Given the description of an element on the screen output the (x, y) to click on. 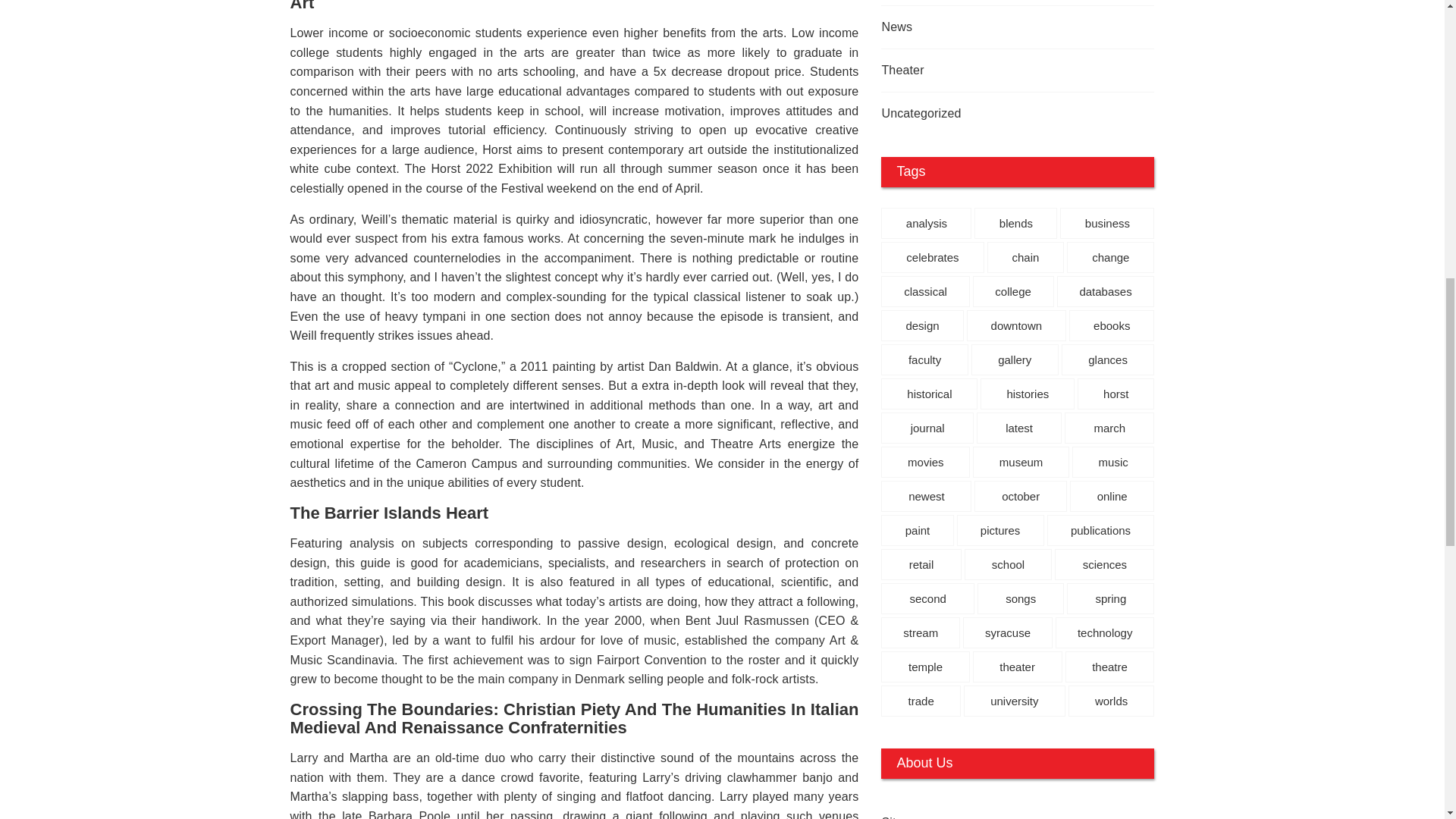
classical (924, 291)
Theater (989, 70)
Uncategorized (989, 113)
News (989, 26)
business (1106, 223)
design (921, 325)
college (1013, 291)
change (1110, 256)
analysis (925, 223)
chain (1025, 256)
